Given the description of an element on the screen output the (x, y) to click on. 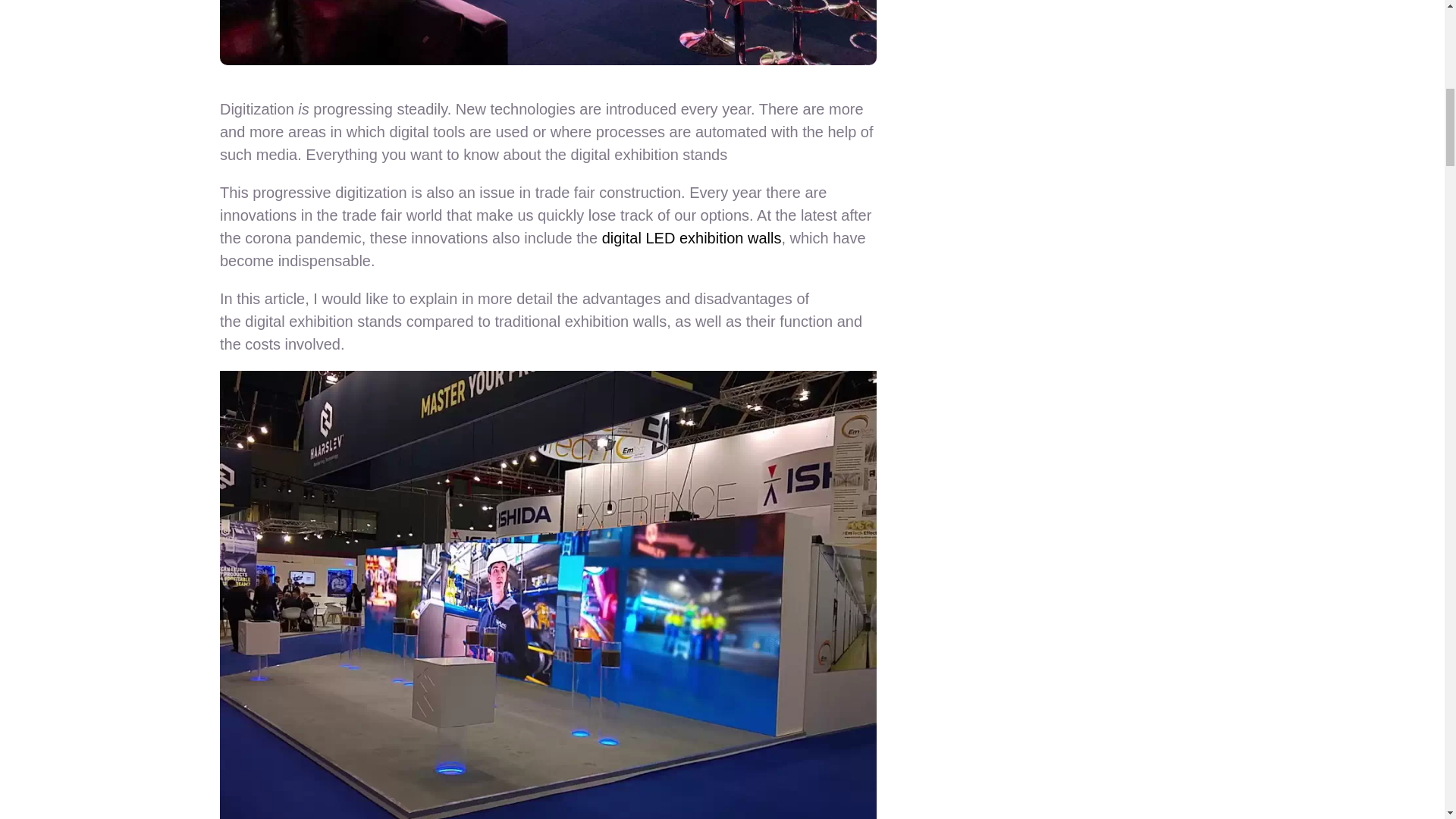
led-wall-2 (547, 32)
digital LED exhibition walls (691, 238)
